Given the description of an element on the screen output the (x, y) to click on. 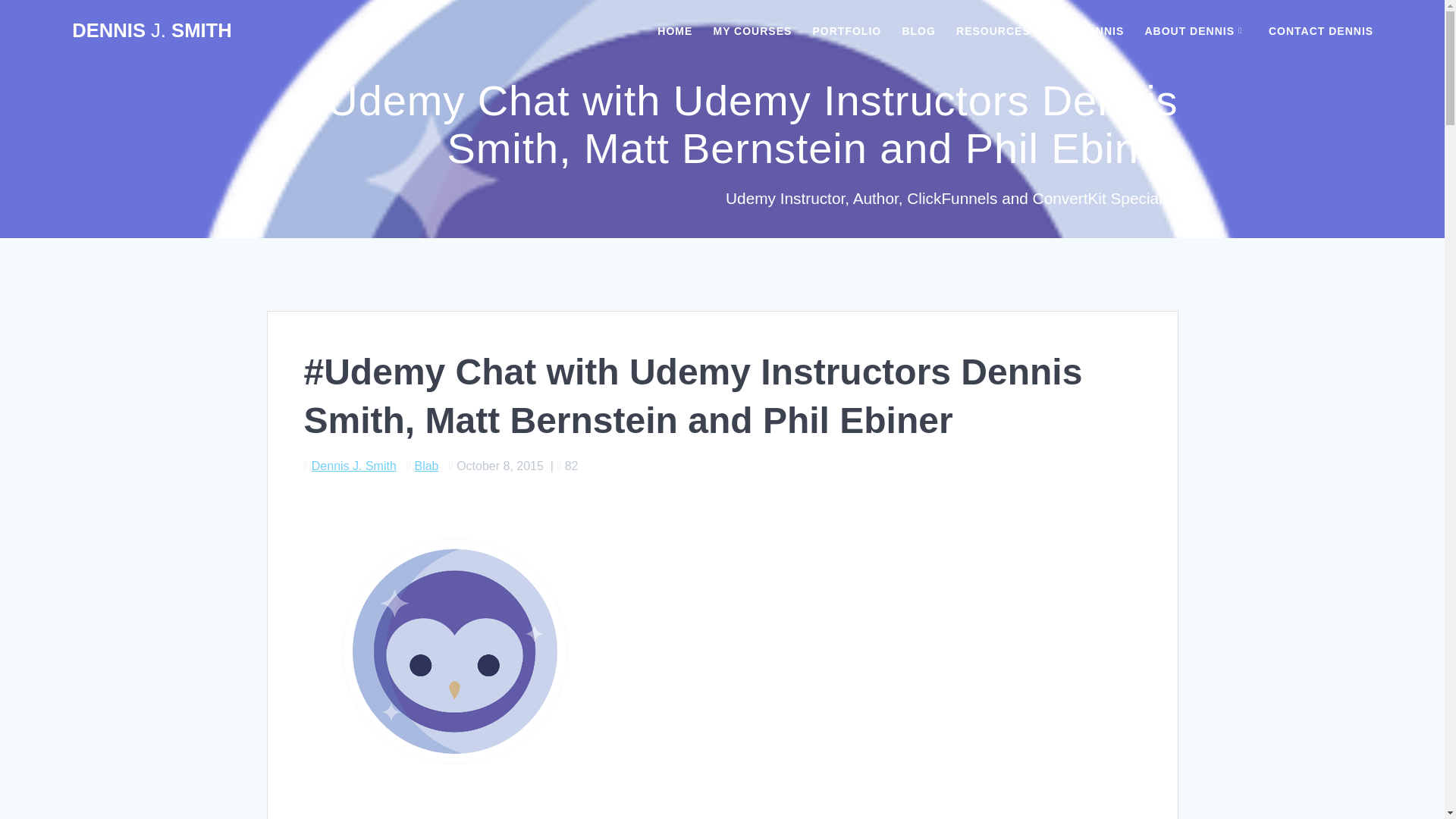
HOME (675, 30)
Blab (425, 465)
DENNIS J. SMITH (151, 30)
PORTFOLIO (847, 30)
MY COURSES (752, 30)
BLOG (917, 30)
Posts by Dennis J. Smith (353, 465)
CONTACT DENNIS (1320, 30)
RESOURCES (993, 30)
ABOUT DENNIS (1195, 30)
Dennis J. Smith (353, 465)
ASK DENNIS (1087, 30)
